Given the description of an element on the screen output the (x, y) to click on. 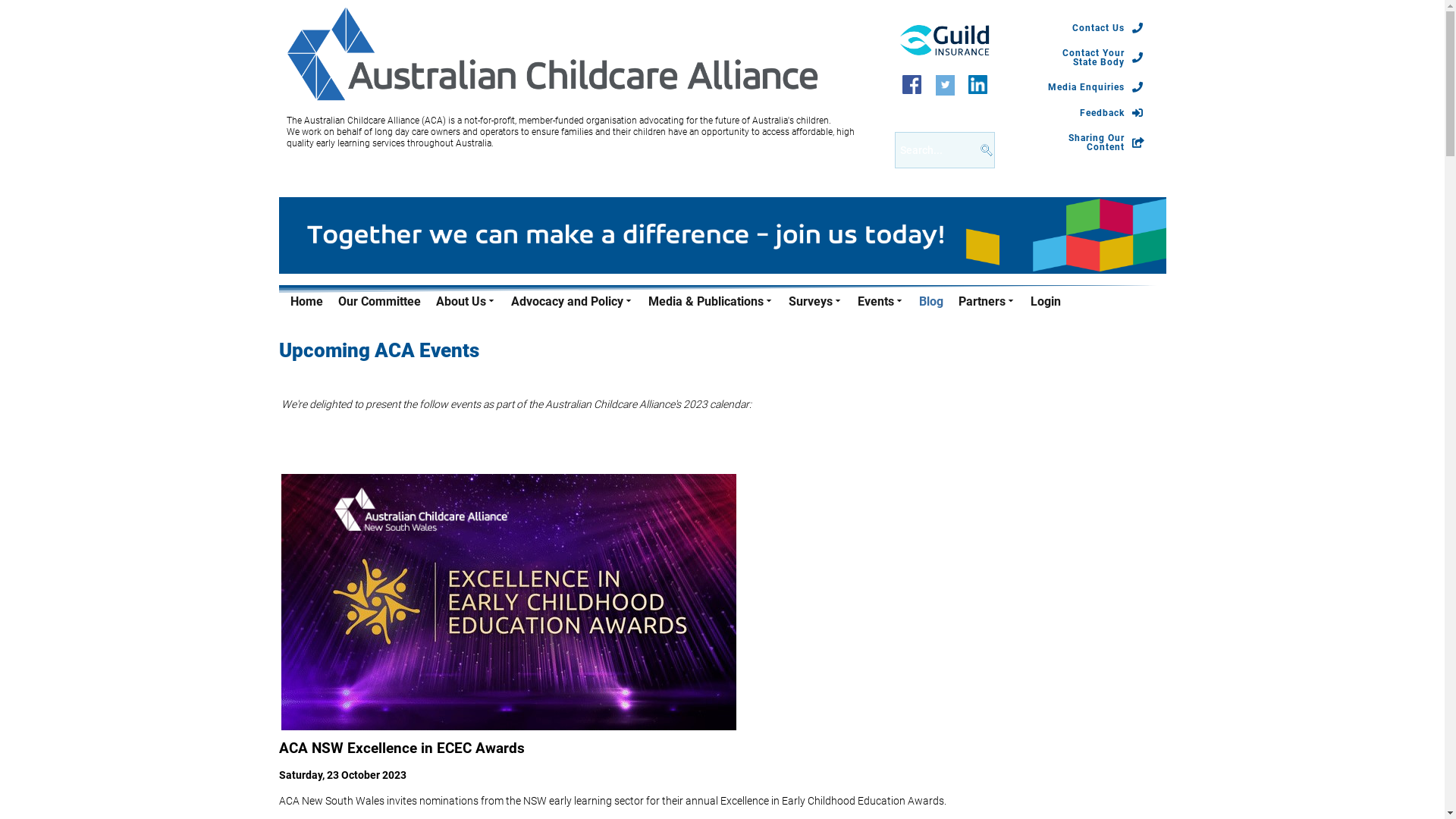
Our Committee Element type: text (375, 307)
Upcoming ACA Events Element type: text (379, 349)
Contact Your State Body Element type: text (1092, 57)
Sharing Our Content Element type: text (1092, 142)
Partners Element type: text (982, 306)
Login Element type: text (1041, 307)
Contact Us Element type: text (1107, 27)
Home Element type: text (302, 307)
Media Enquiries Element type: text (1094, 87)
Feedback Element type: text (1110, 112)
Blog Element type: text (927, 307)
